Given the description of an element on the screen output the (x, y) to click on. 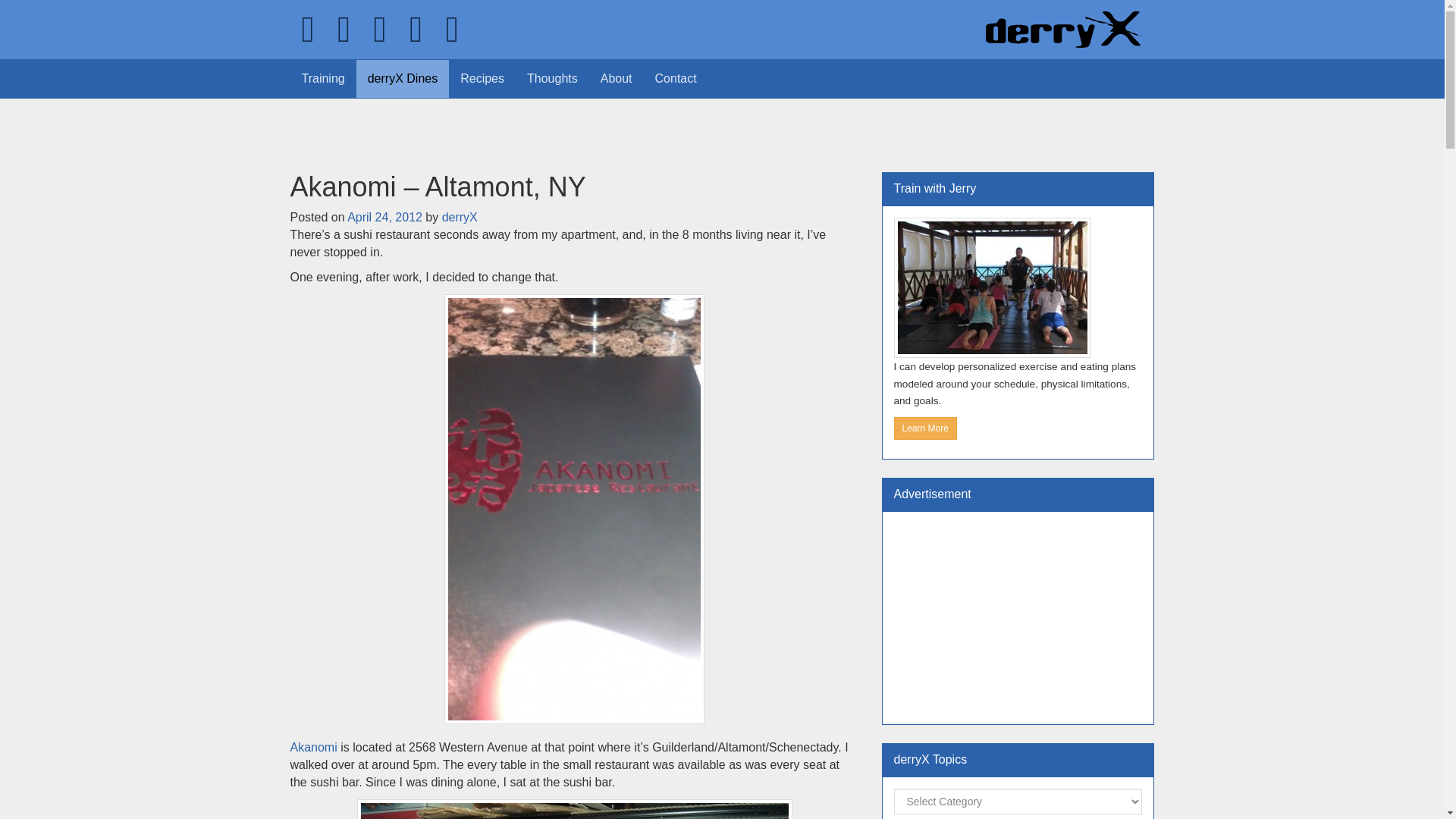
Jerry on Twitter (307, 29)
Upcoming events and classes (451, 29)
April 24, 2012 (384, 216)
derryX (459, 216)
Training (322, 78)
derryX Dines (402, 78)
Jerry on YouTube (415, 29)
Jerry on Facebook (344, 29)
Akanomi menu (574, 508)
Contact (675, 78)
Jerry on Facebook (344, 29)
Jerry on Instagram (380, 29)
Fresh fish at Akanomi (574, 809)
Jerry on YouTube (415, 29)
Akanomi (312, 747)
